Given the description of an element on the screen output the (x, y) to click on. 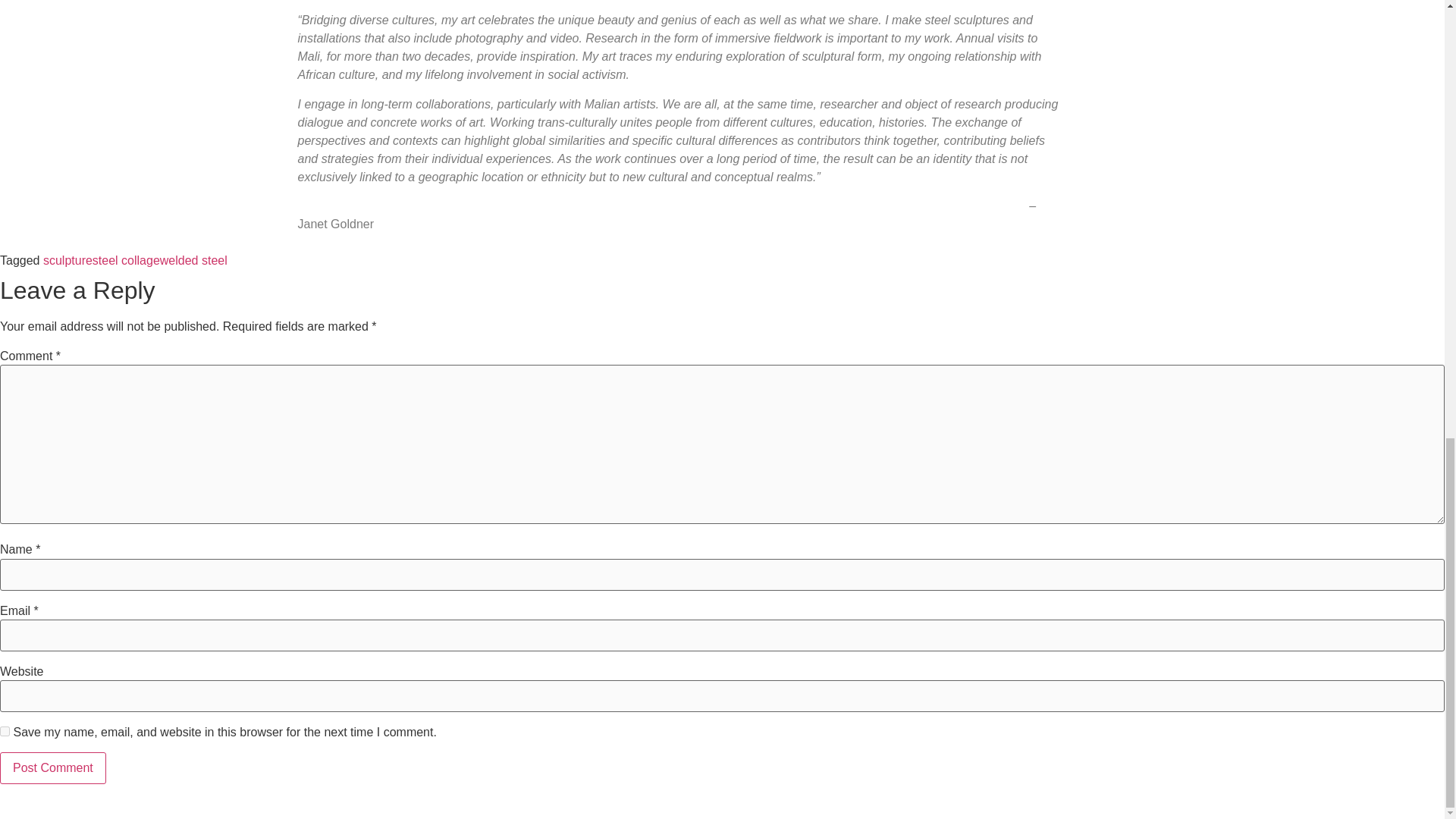
welded steel (193, 259)
Post Comment (53, 767)
Post Comment (53, 767)
sculpture (68, 259)
yes (5, 731)
steel collage (126, 259)
